Given the description of an element on the screen output the (x, y) to click on. 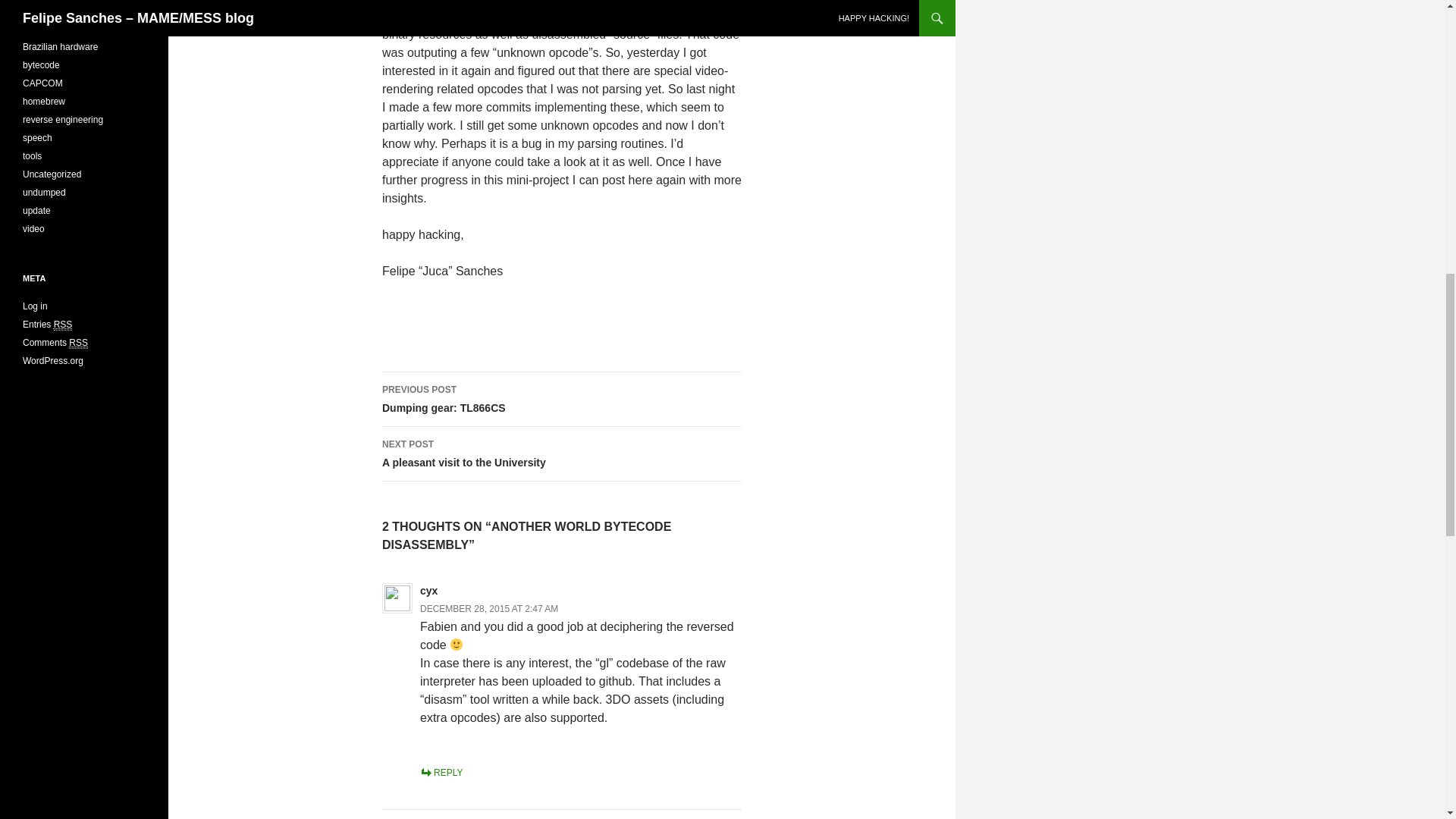
Really Simple Syndication (561, 453)
Really Simple Syndication (561, 399)
REPLY (77, 342)
DECEMBER 28, 2015 AT 2:47 AM (62, 324)
